Given the description of an element on the screen output the (x, y) to click on. 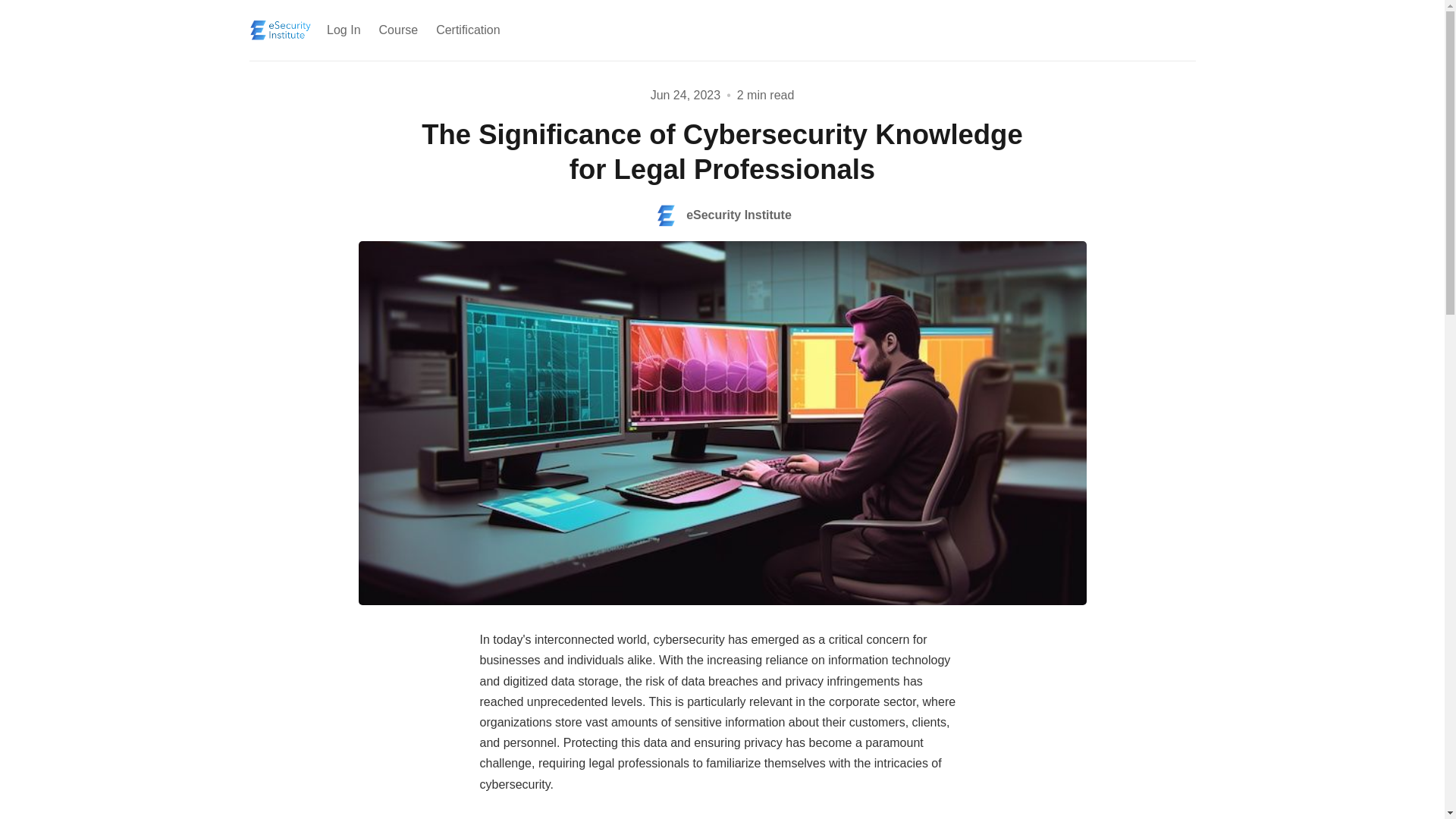
Theme Toggle (1158, 30)
Certification (467, 29)
eSecurity Institute (722, 215)
Search (1182, 30)
More (521, 30)
Log In (343, 29)
Course (398, 29)
